Given the description of an element on the screen output the (x, y) to click on. 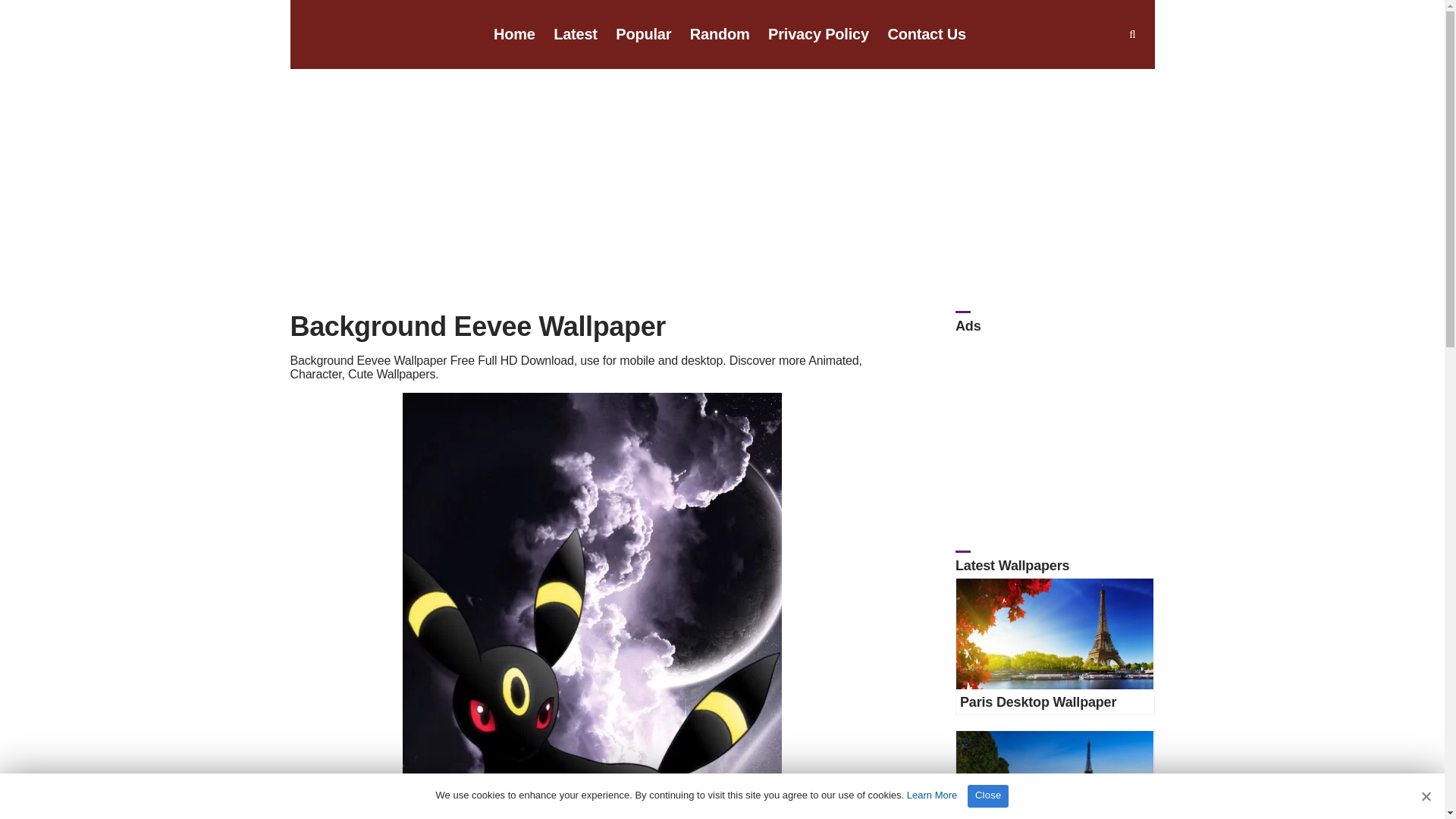
Paris Desktop Wallpaper (1037, 702)
Random (719, 34)
Paris Desktop Wallpaper (1037, 702)
Paris Desktop Wallpaper (1054, 775)
Home (514, 34)
Paris Desktop Wallpaper (1054, 633)
Advertisement (1054, 421)
Contact Us (926, 34)
Latest (574, 34)
Popular (643, 34)
Privacy Policy (818, 34)
